Given the description of an element on the screen output the (x, y) to click on. 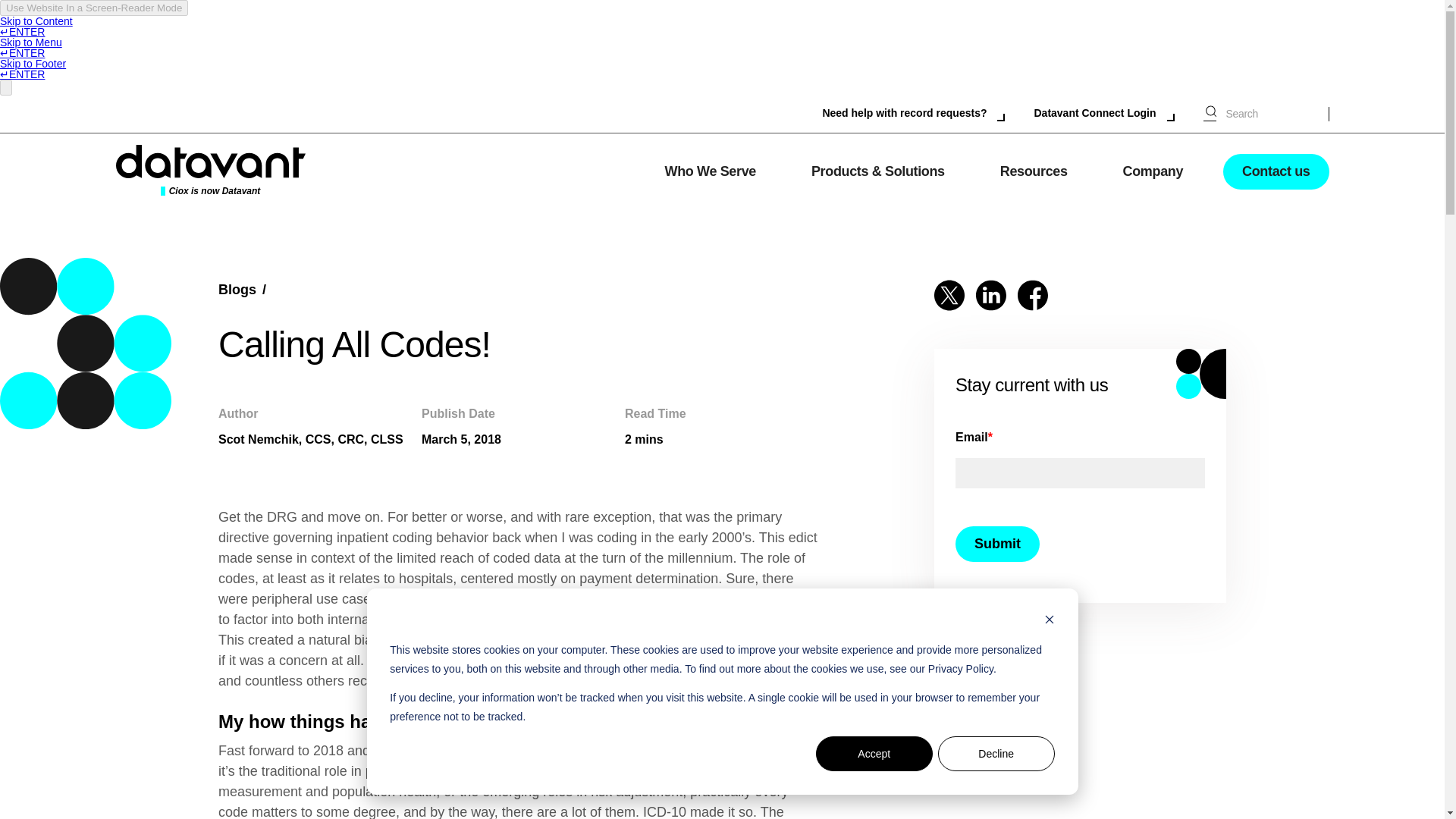
Need help with record requests? (913, 114)
Datavant Connect Login (1103, 114)
Ciox is now Datavant (209, 171)
Submit (997, 543)
